Given the description of an element on the screen output the (x, y) to click on. 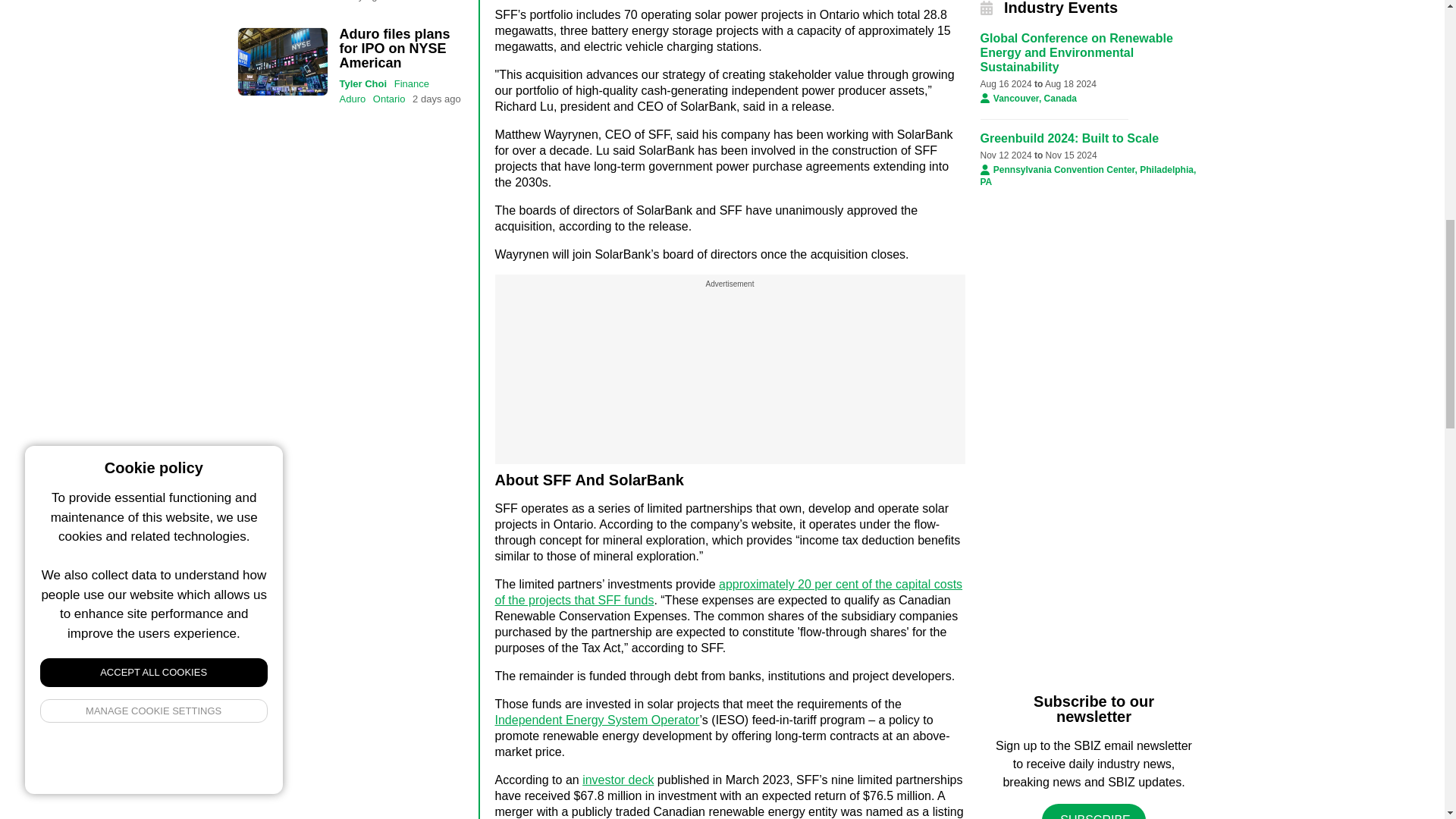
Aduro files plans for IPO on NYSE American (281, 61)
Aduro files plans for IPO on NYSE American (394, 48)
